Given the description of an element on the screen output the (x, y) to click on. 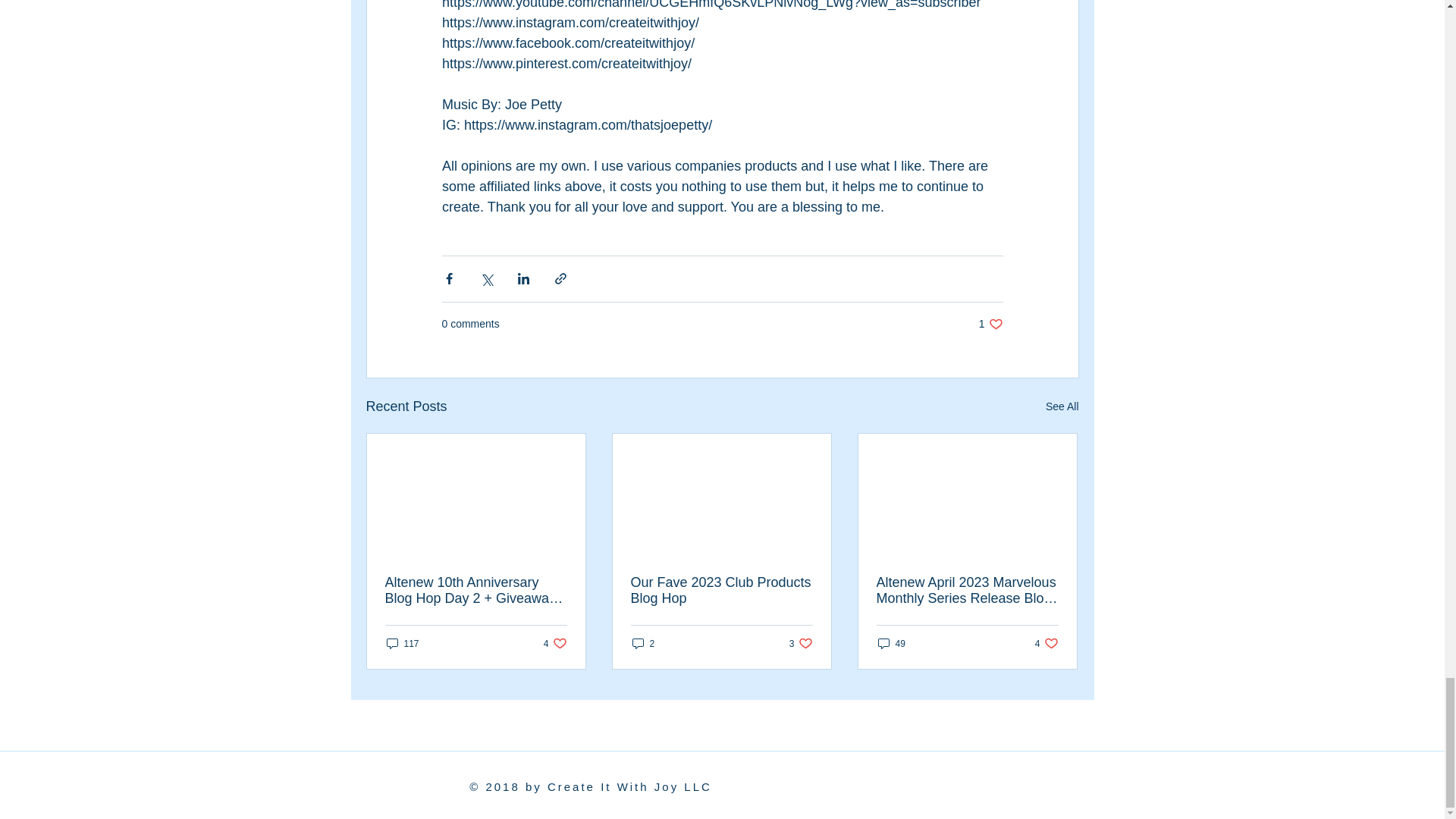
Our Fave 2023 Club Products Blog Hop (800, 643)
2 (721, 590)
See All (990, 323)
49 (643, 643)
117 (1061, 406)
